Given the description of an element on the screen output the (x, y) to click on. 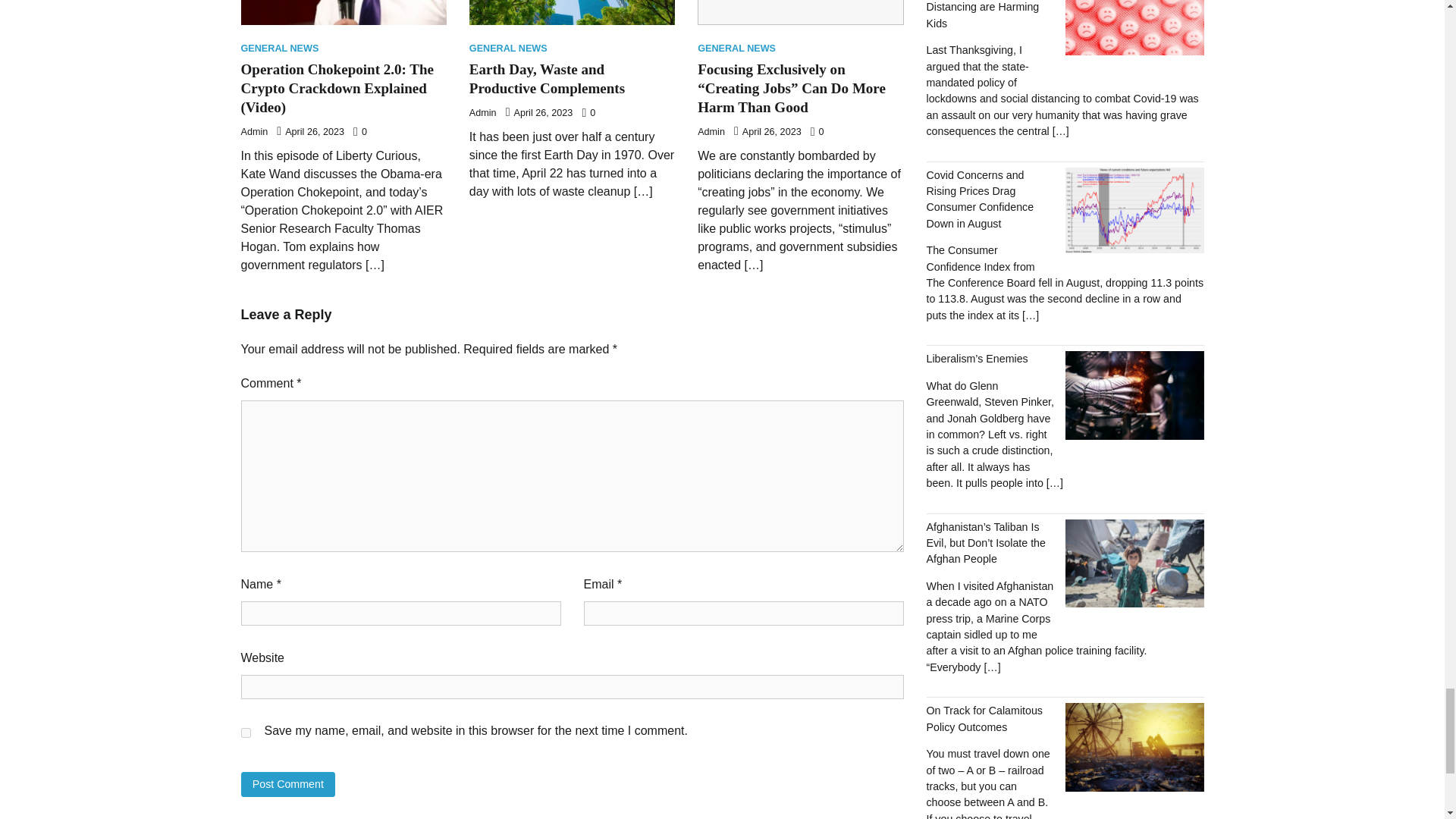
yes (245, 732)
Post Comment (288, 784)
